Given the description of an element on the screen output the (x, y) to click on. 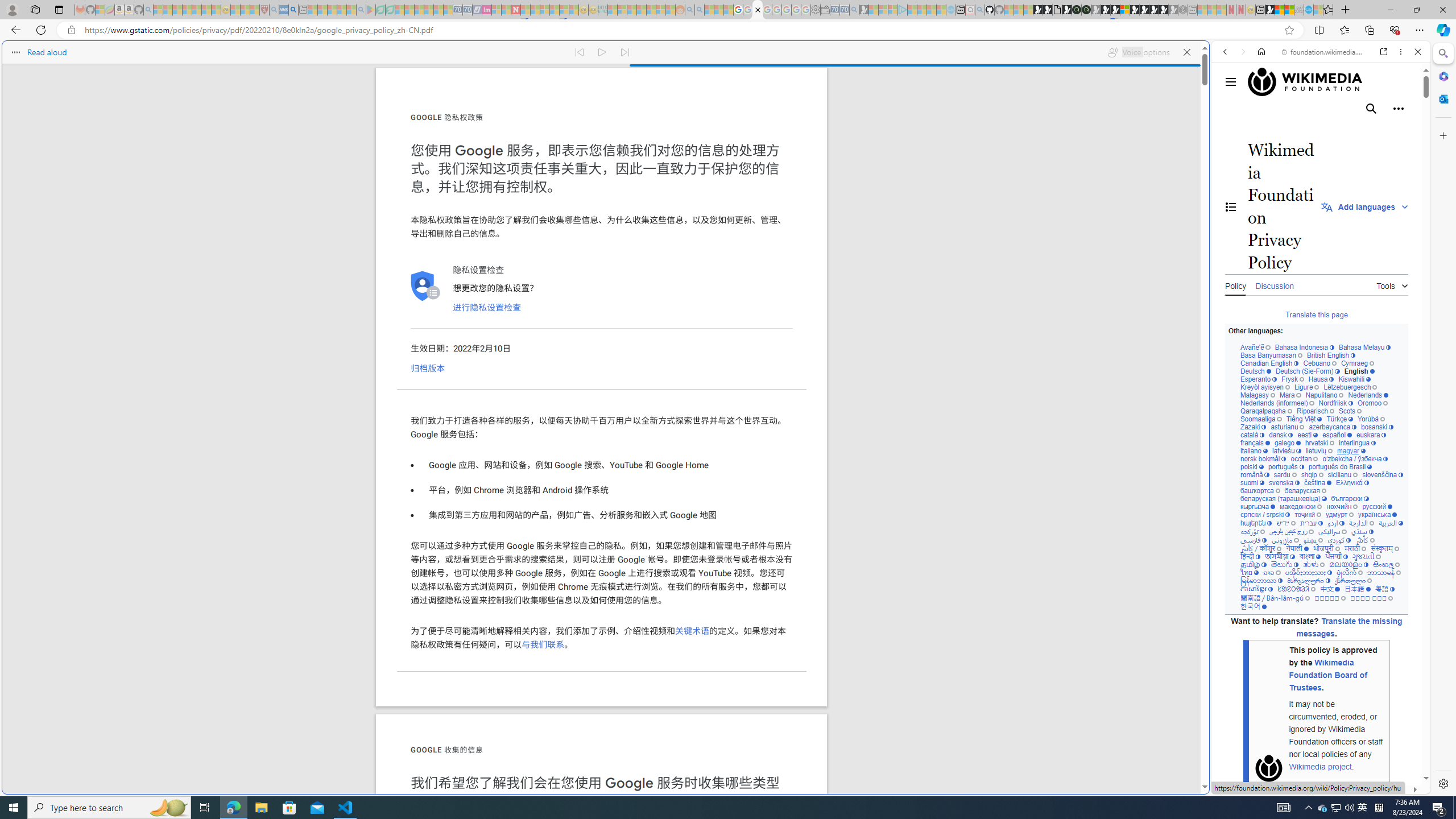
Main menu (1230, 81)
Frysk (1292, 379)
eesti (1307, 434)
Kiswahili (1354, 379)
Policy (1235, 284)
